Given the description of an element on the screen output the (x, y) to click on. 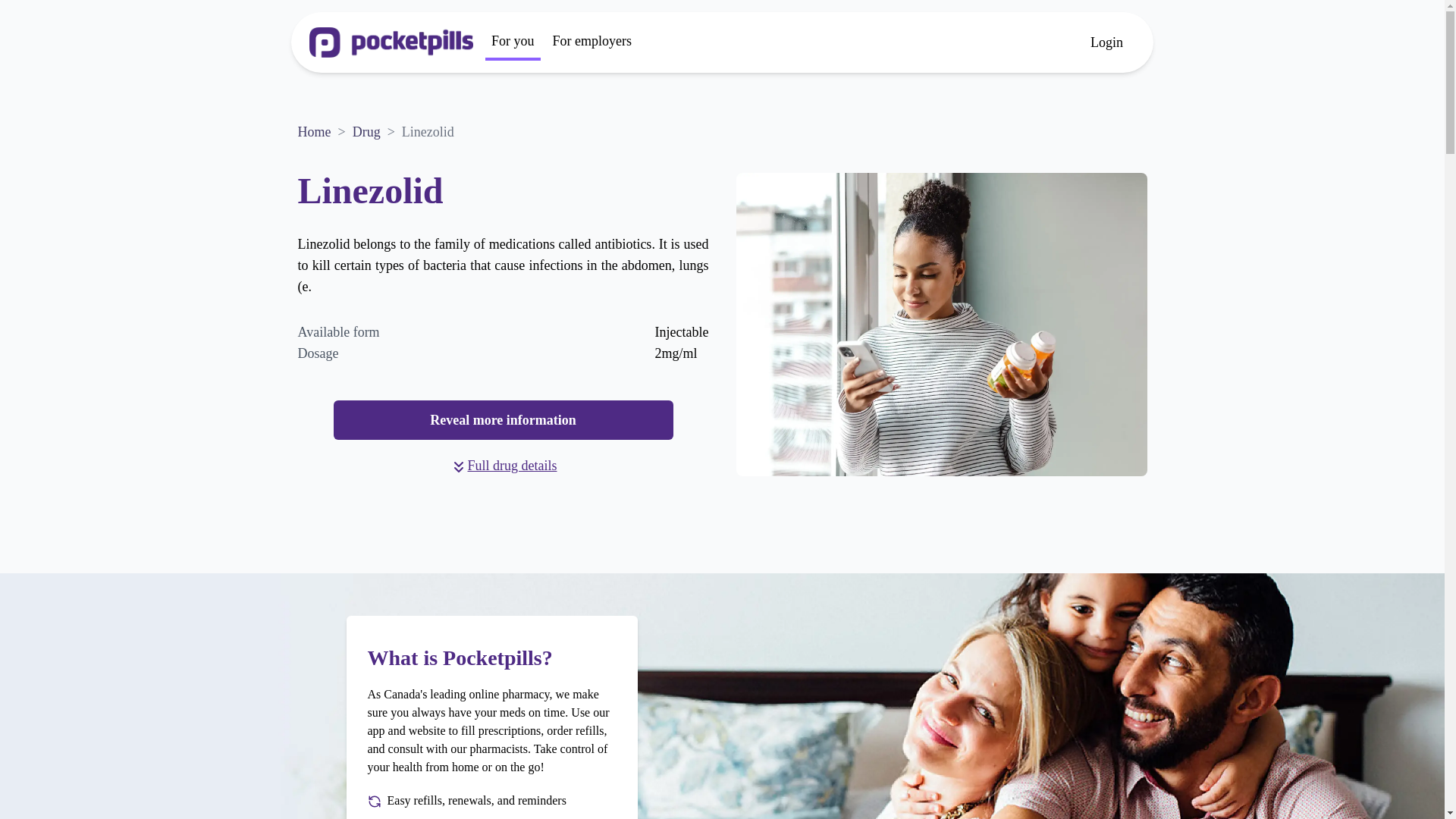
Home (313, 131)
For employers (592, 42)
For you (512, 42)
